Given the description of an element on the screen output the (x, y) to click on. 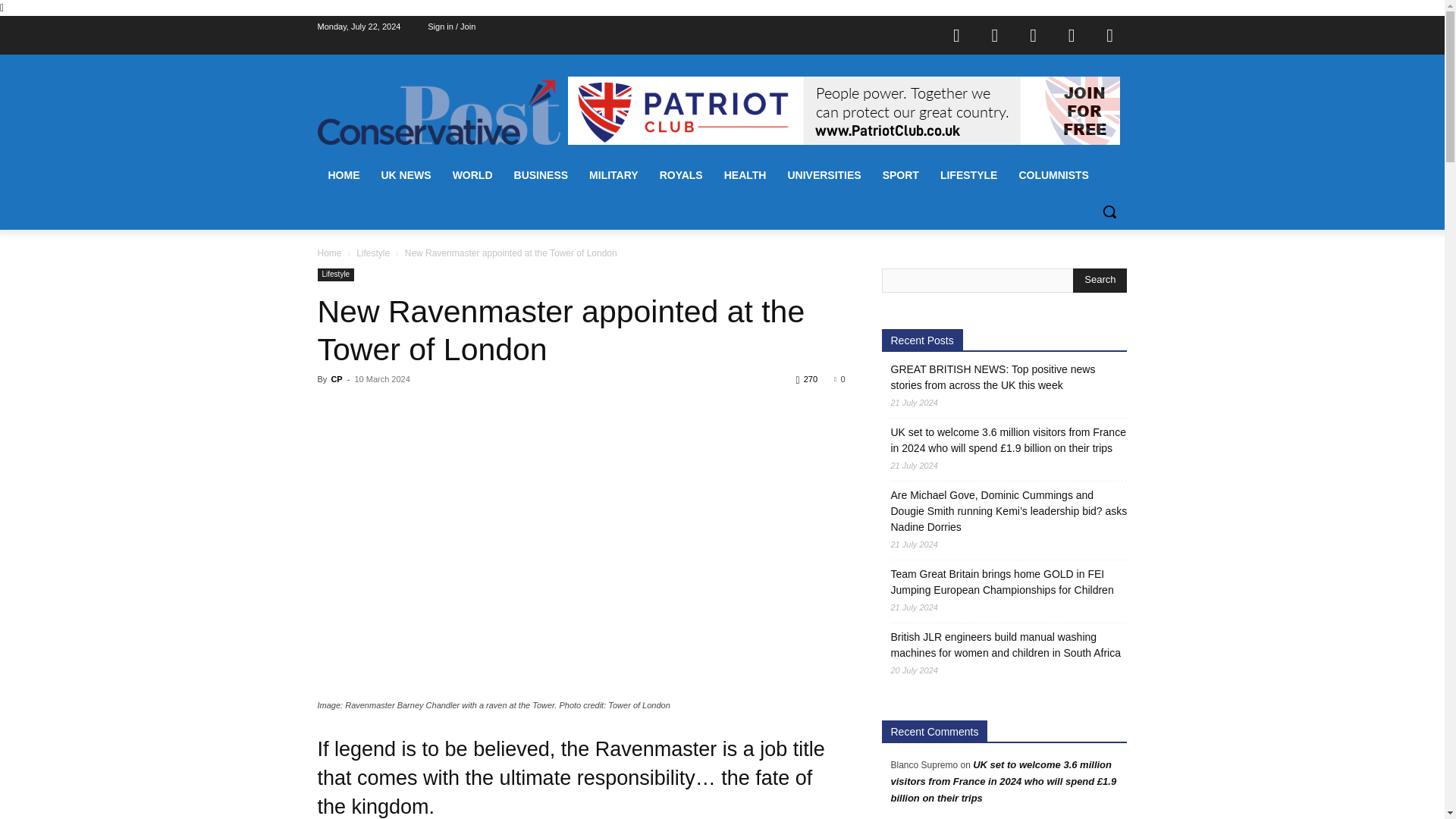
Home (328, 253)
UNIVERSITIES (823, 175)
ROYALS (681, 175)
Youtube (1109, 35)
LIFESTYLE (968, 175)
HOME (343, 175)
Mail (1033, 35)
HEALTH (745, 175)
UK NEWS (405, 175)
MILITARY (613, 175)
Lifestyle (373, 253)
View all posts in Lifestyle (373, 253)
COLUMNISTS (1053, 175)
WORLD (472, 175)
BUSINESS (541, 175)
